Given the description of an element on the screen output the (x, y) to click on. 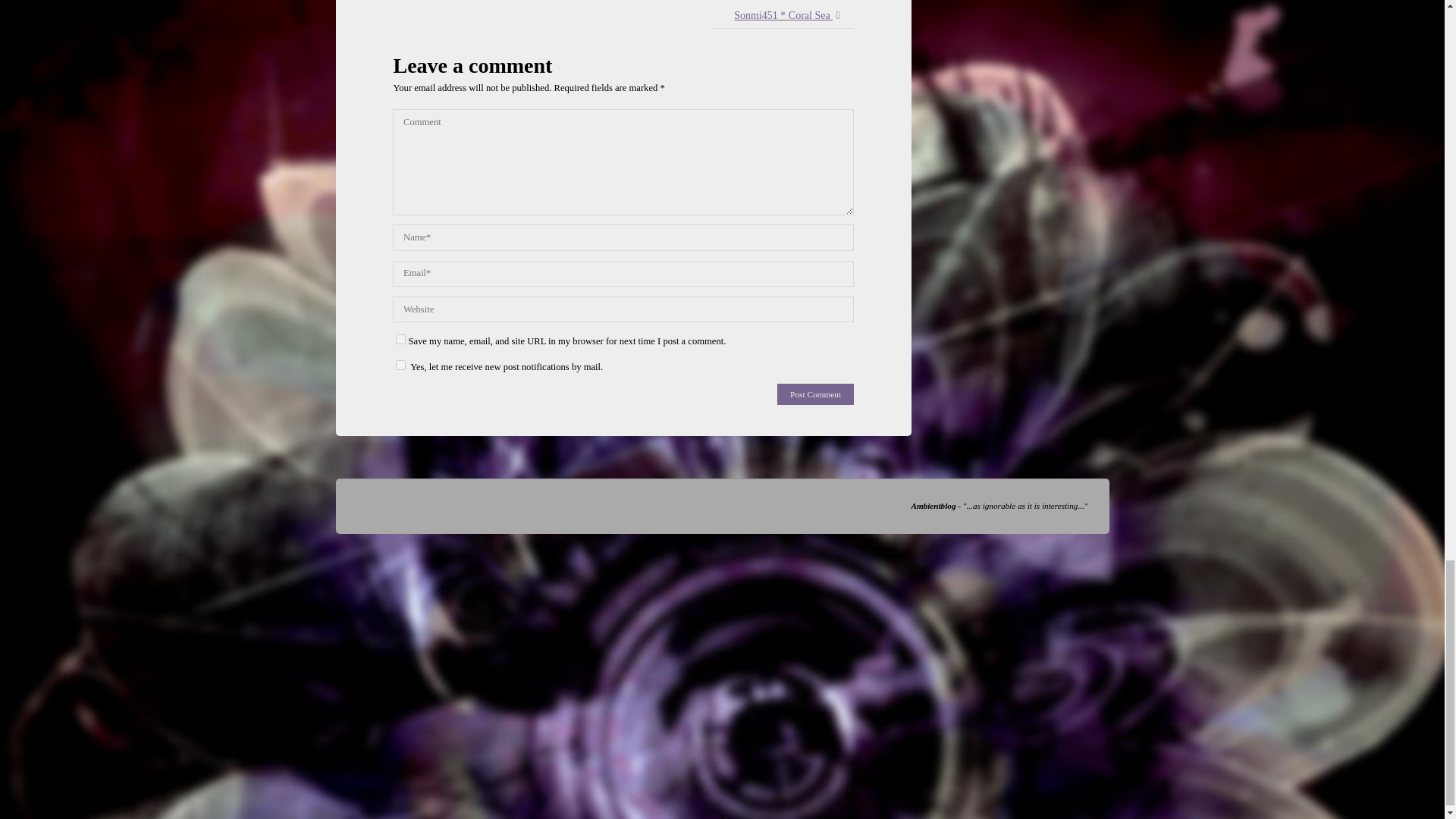
yes (401, 338)
1 (401, 365)
Post Comment (815, 394)
